Given the description of an element on the screen output the (x, y) to click on. 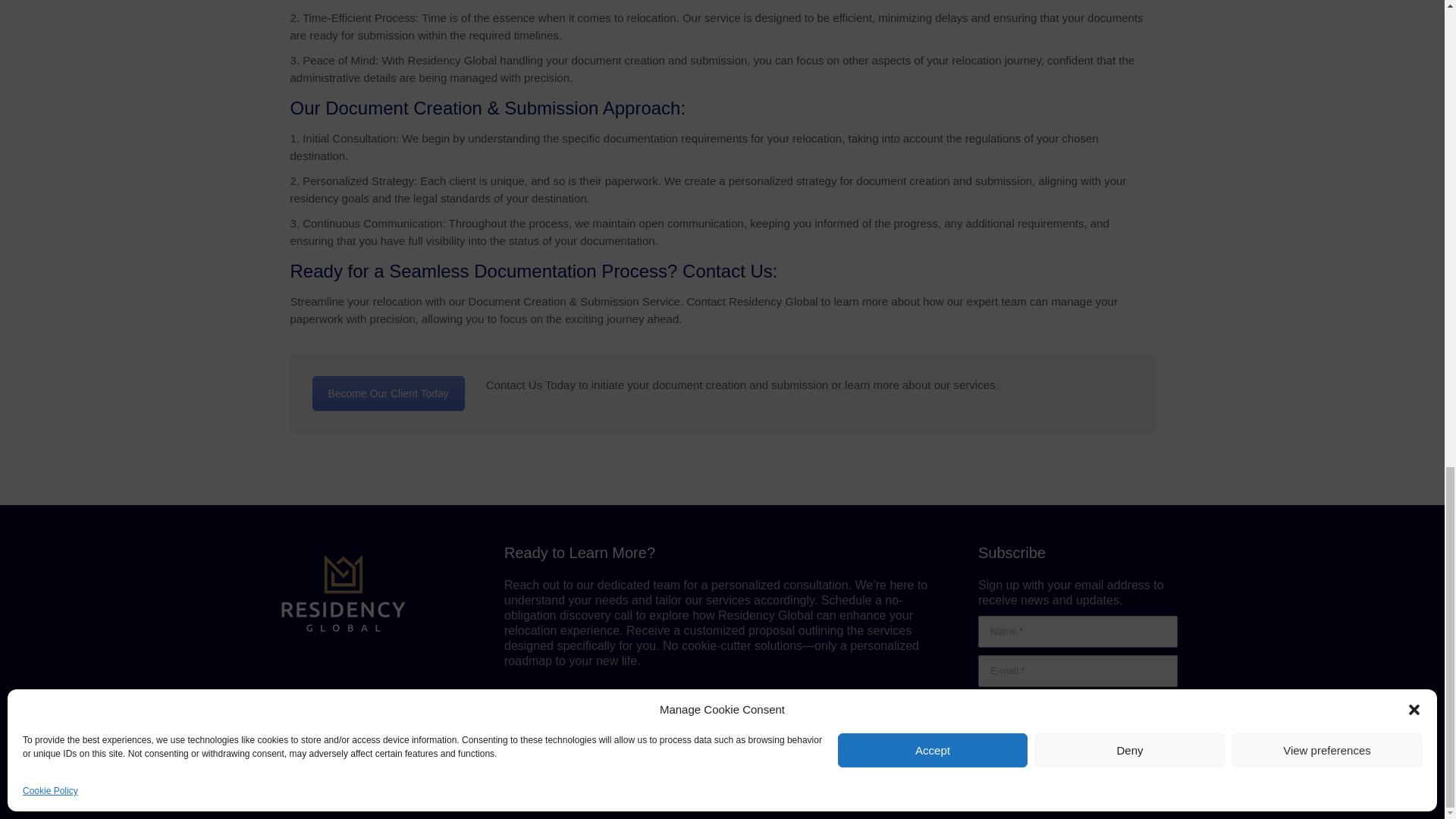
submit (1088, 717)
